Given the description of an element on the screen output the (x, y) to click on. 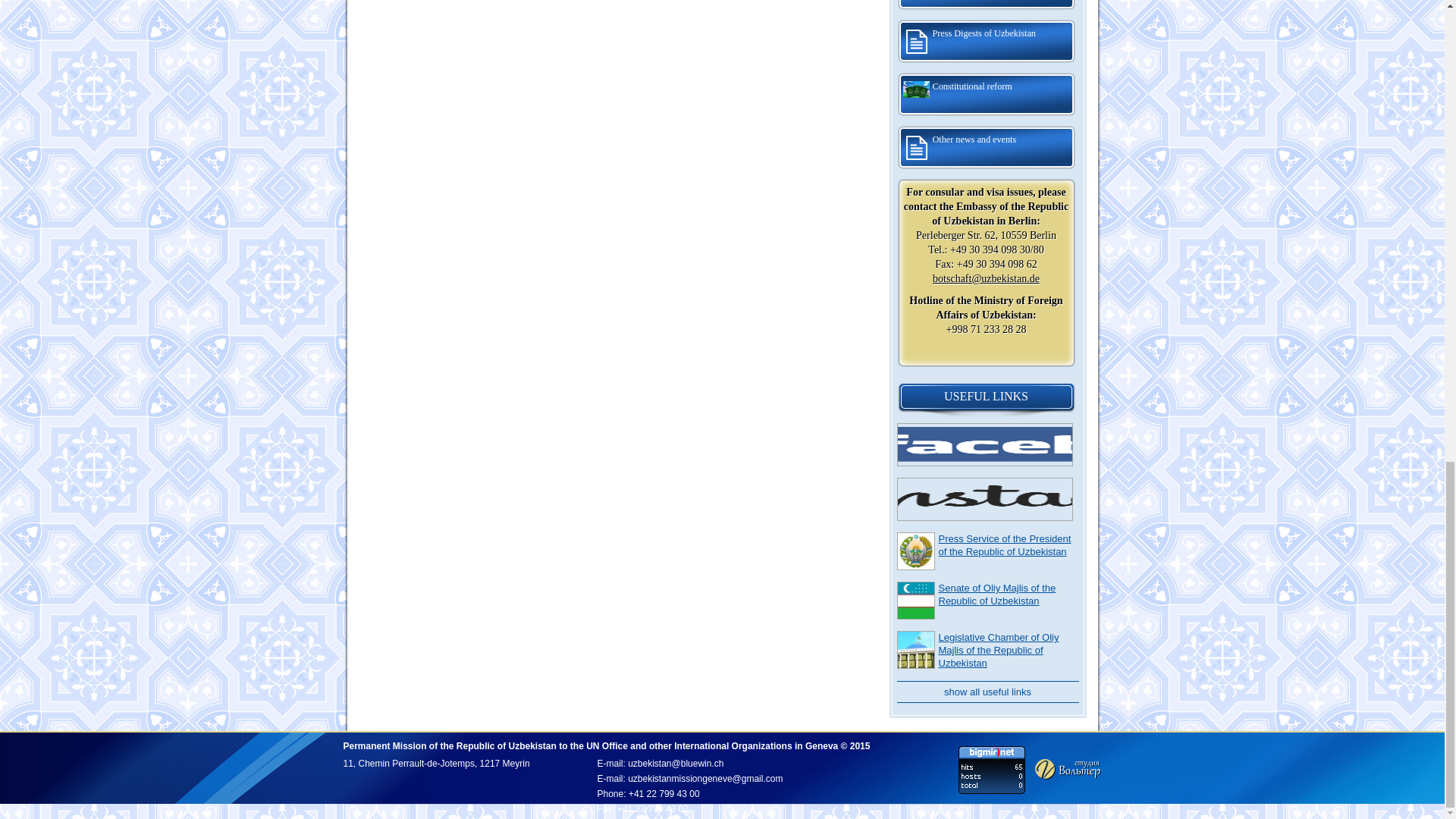
Constitutional reform (985, 94)
Press Service of the President of the Republic of Uzbekistan (1005, 545)
Other news and events (985, 147)
Press Digests of Uzbekistan (985, 41)
December 8 - Constitution Day of the Republic of Uzbekistan (985, 5)
